Given the description of an element on the screen output the (x, y) to click on. 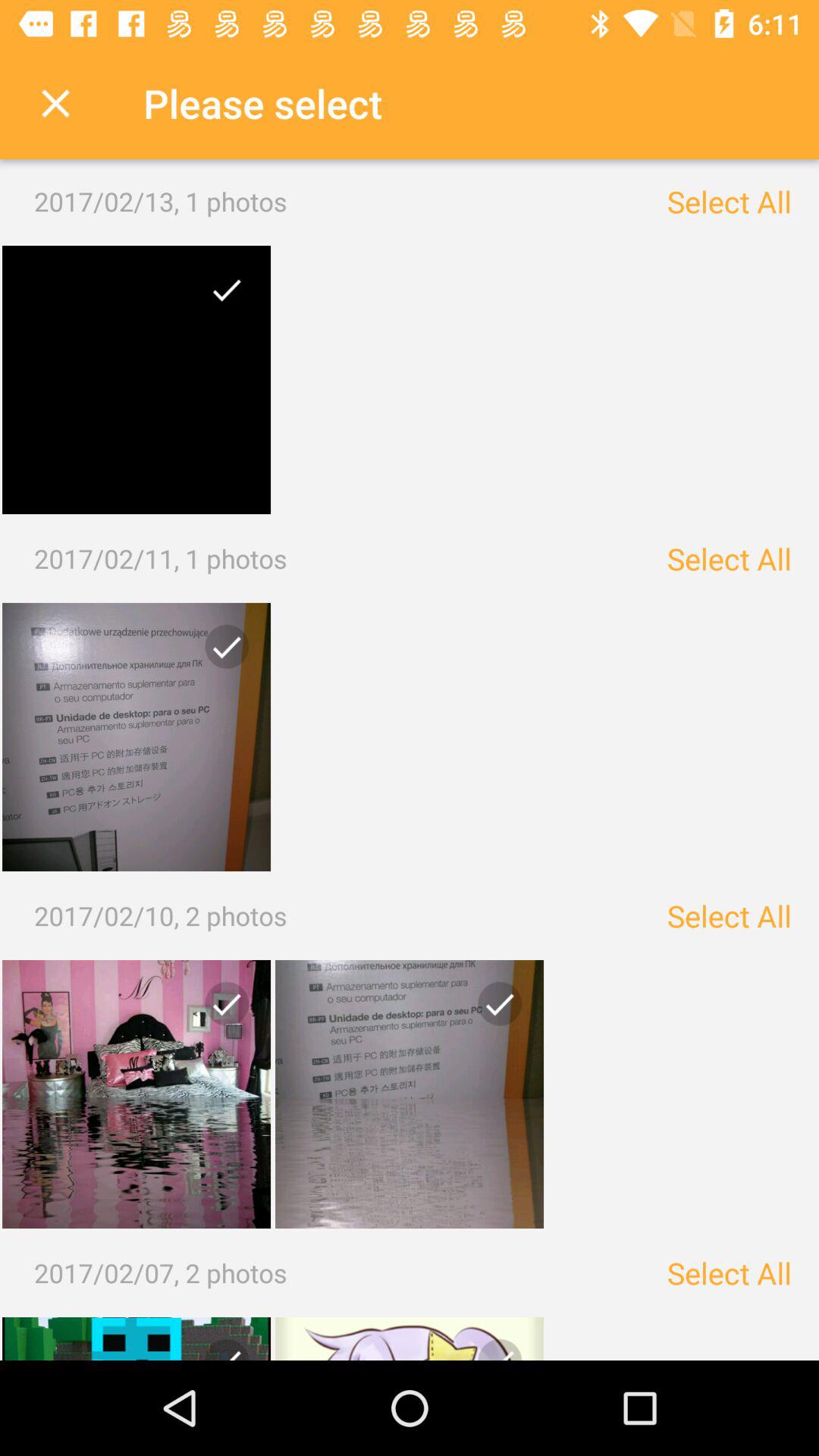
selected (136, 1094)
